Given the description of an element on the screen output the (x, y) to click on. 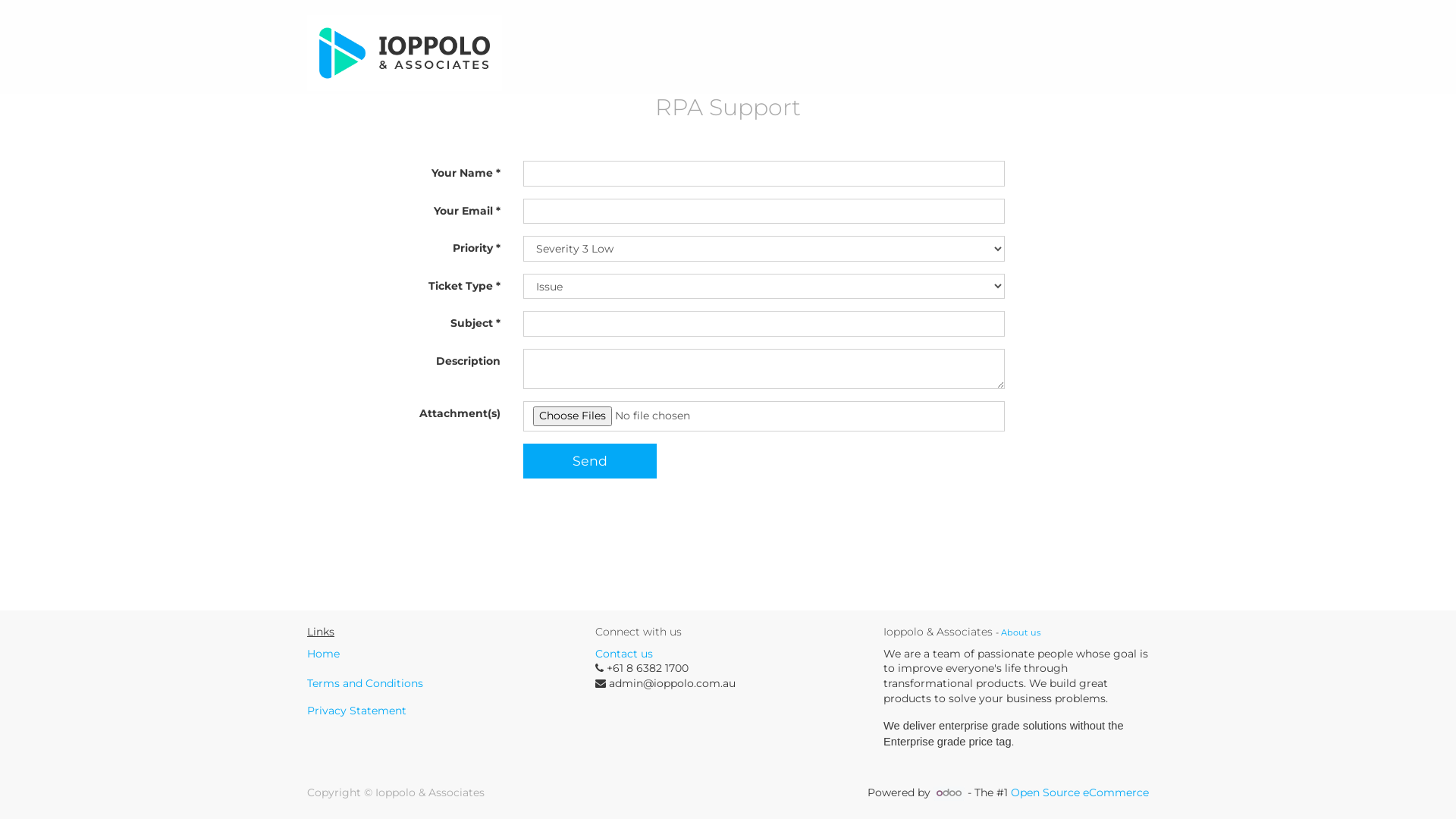
Contact us Element type: text (623, 653)
Home Element type: text (323, 653)
Ioppolo & Associates website Element type: hover (404, 53)
About us Element type: text (1020, 632)
Send Element type: text (589, 461)
Terms and Conditions Element type: text (365, 683)
Open Source eCommerce Element type: text (1079, 792)
Privacy Statement Element type: text (356, 710)
